Given the description of an element on the screen output the (x, y) to click on. 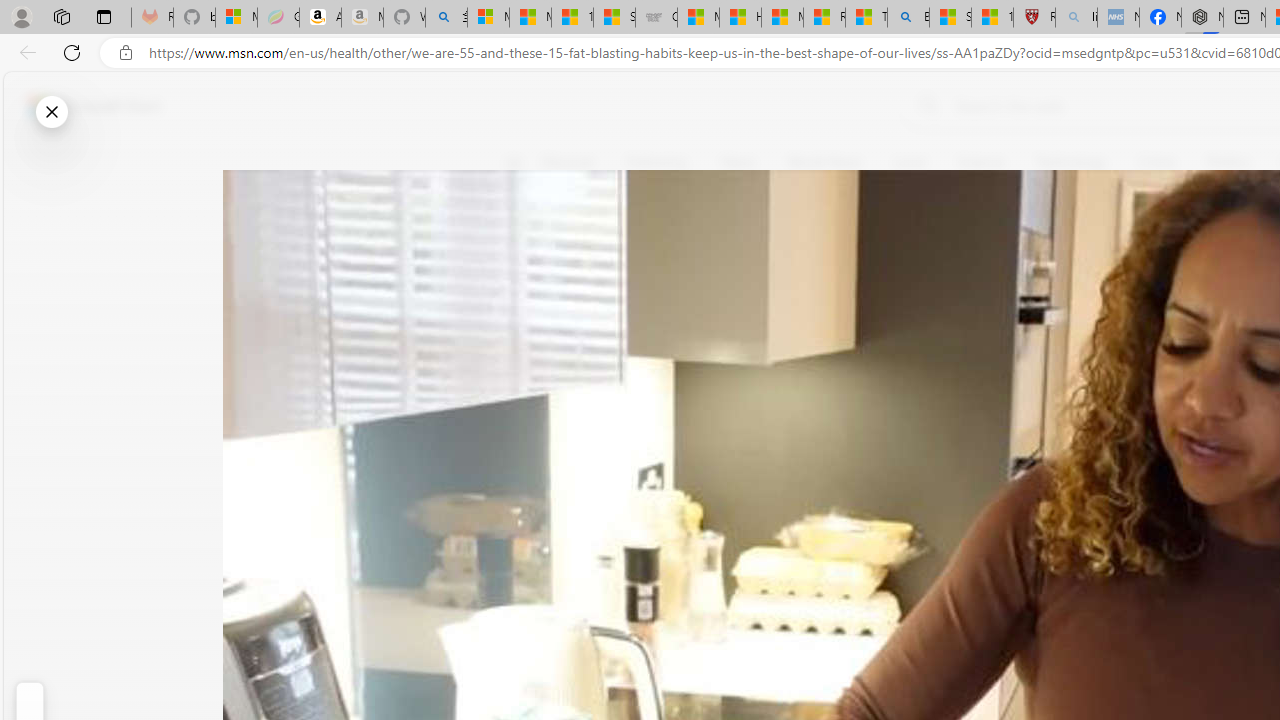
Politics (1227, 162)
World News (824, 162)
Science (980, 162)
Body Network (788, 259)
